Given the description of an element on the screen output the (x, y) to click on. 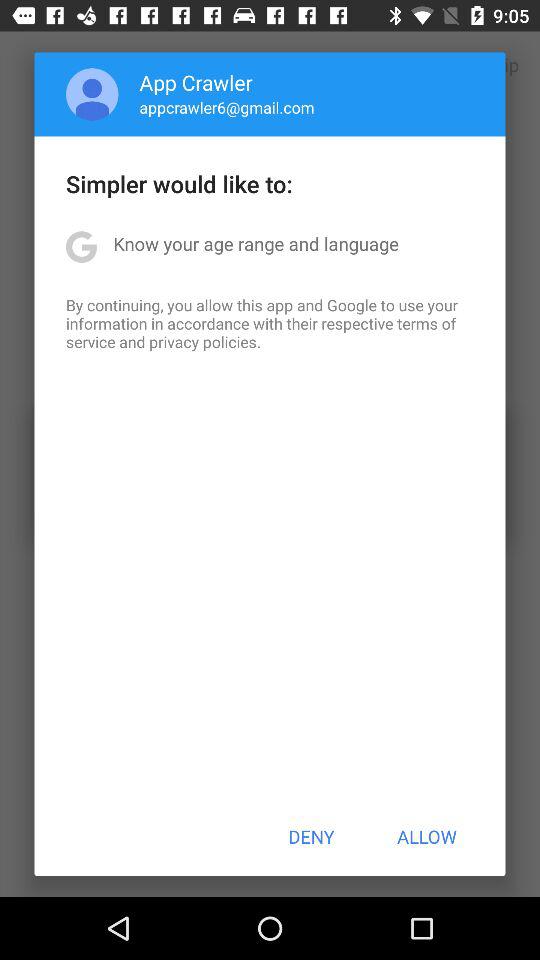
choose icon next to app crawler item (92, 94)
